Given the description of an element on the screen output the (x, y) to click on. 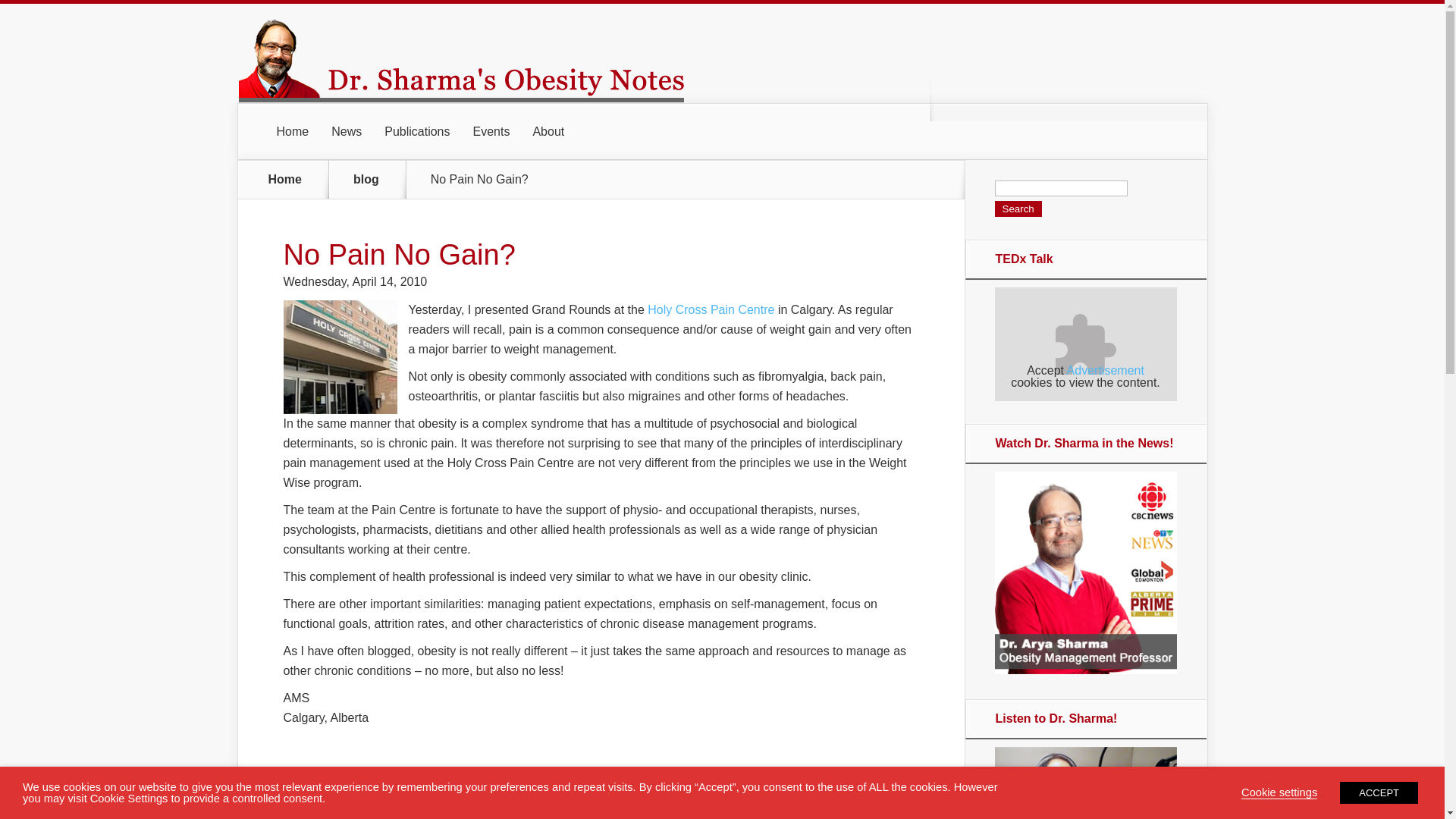
Events (491, 131)
Advertisement (1105, 369)
News (346, 131)
blog (375, 179)
Search (1018, 208)
Holy Cross Pain Centre (710, 309)
Home (285, 179)
About (548, 131)
Publications (416, 131)
sharma-obesity-holy-cross-centre (340, 357)
Search (1018, 208)
Home (292, 131)
